Given the description of an element on the screen output the (x, y) to click on. 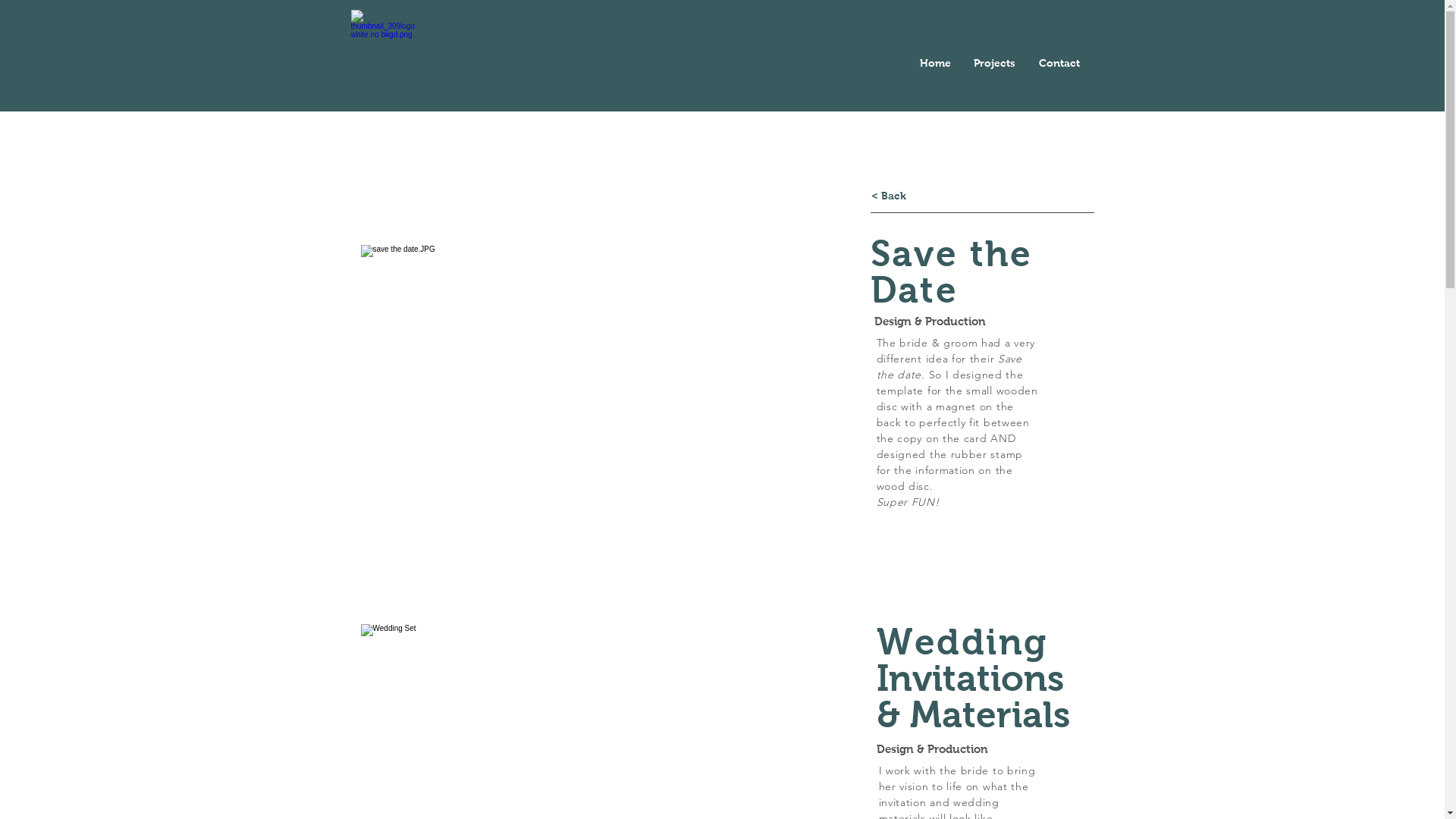
Contact Element type: text (1058, 62)
Projects Element type: text (993, 62)
< Back Element type: text (887, 196)
Home Element type: text (929, 62)
